Given the description of an element on the screen output the (x, y) to click on. 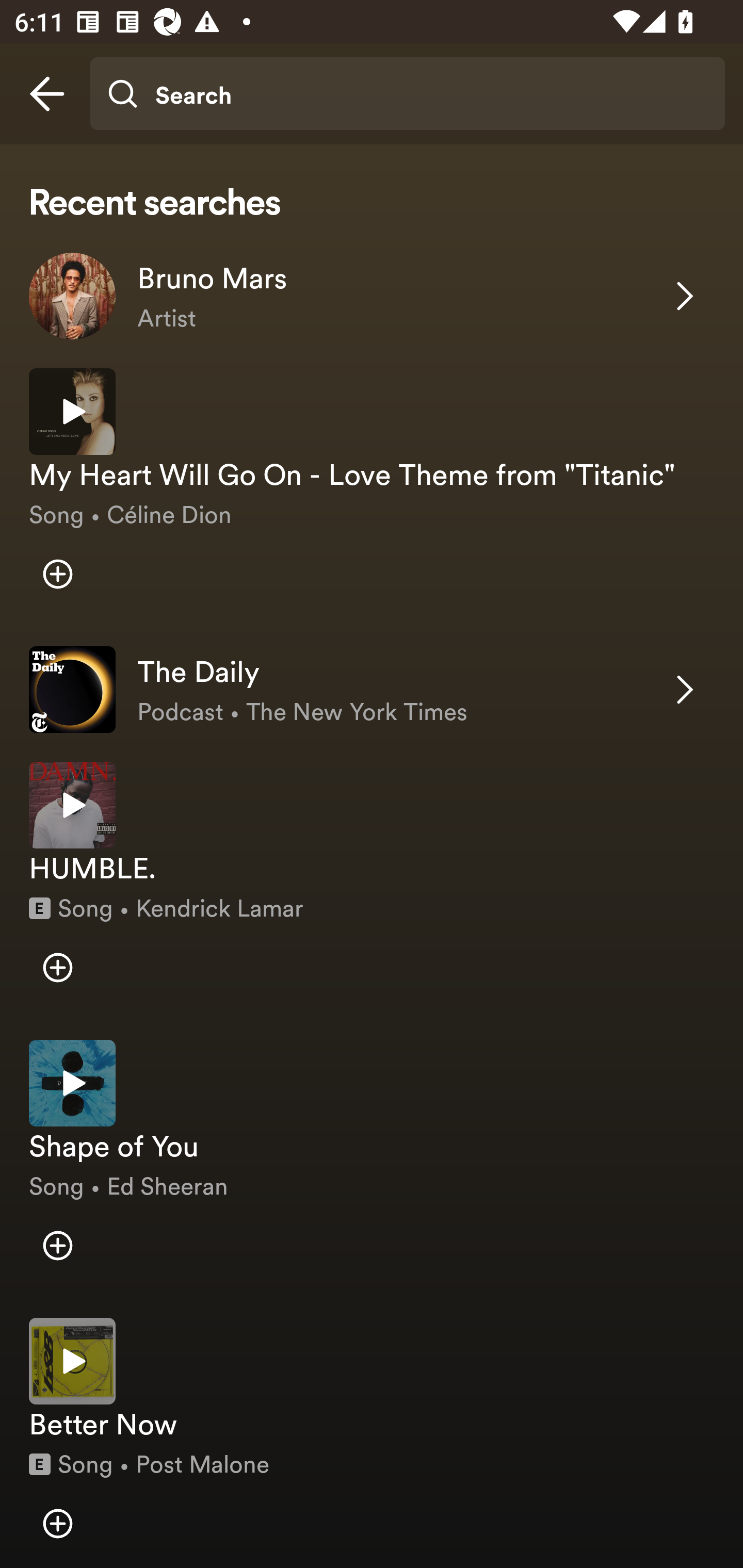
Back (46, 93)
Search (407, 94)
Bruno Mars Artist (371, 296)
Play preview (71, 411)
Add item (57, 573)
The Daily Podcast • The New York Times (371, 689)
Play preview (71, 805)
Add item (57, 967)
Play preview (71, 1082)
Add item (57, 1245)
Play preview (71, 1360)
Add item (57, 1523)
